Given the description of an element on the screen output the (x, y) to click on. 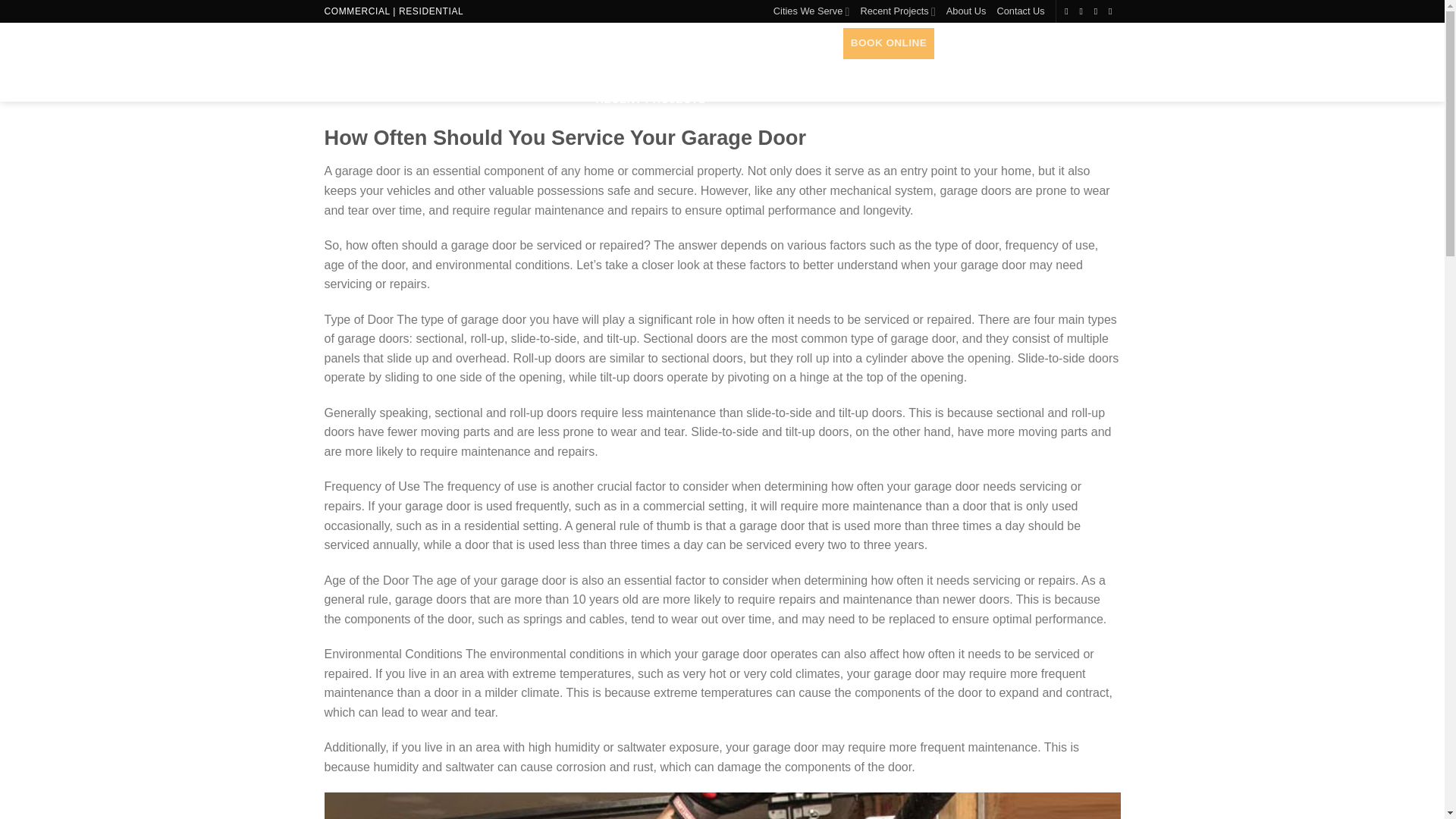
Cities We Serve (811, 11)
COMMERCIAL (357, 10)
Contact Us (1019, 11)
NEW GARAGE DOOR (645, 8)
GARAGE DOOR REPAIR (660, 34)
About Us (966, 11)
Recent Projects (897, 11)
RECENT PROJECTS (650, 99)
BOOK ONLINE (888, 42)
